Given the description of an element on the screen output the (x, y) to click on. 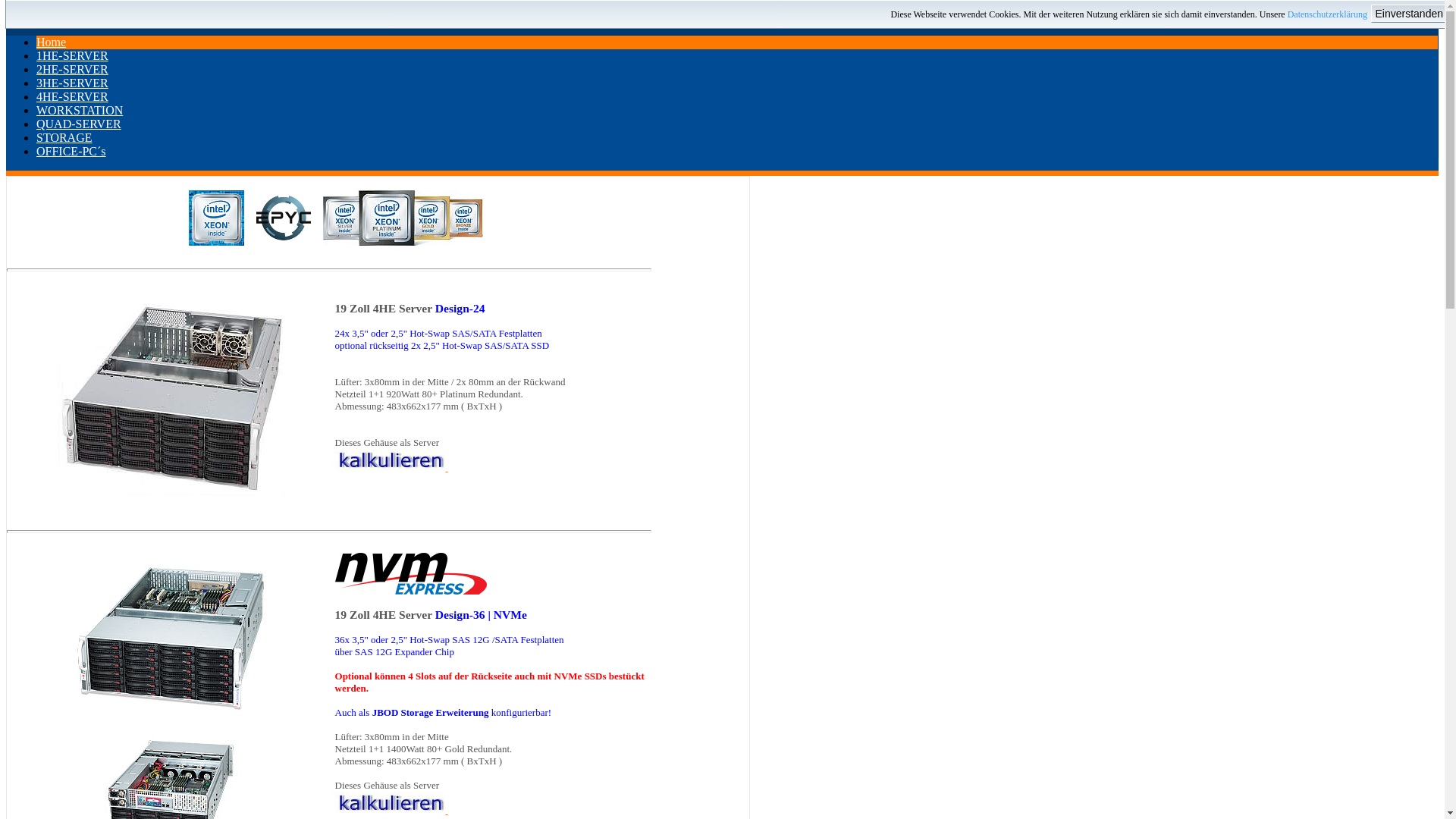
QUAD-SERVER Element type: text (78, 123)
Einverstanden Element type: text (1408, 13)
3HE-SERVER Element type: text (72, 82)
4HE-SERVER Element type: text (72, 96)
STORAGE Element type: text (64, 137)
WORKSTATION Element type: text (79, 109)
1HE-SERVER Element type: text (72, 55)
2HE-SERVER Element type: text (72, 68)
Home Element type: text (50, 41)
